Given the description of an element on the screen output the (x, y) to click on. 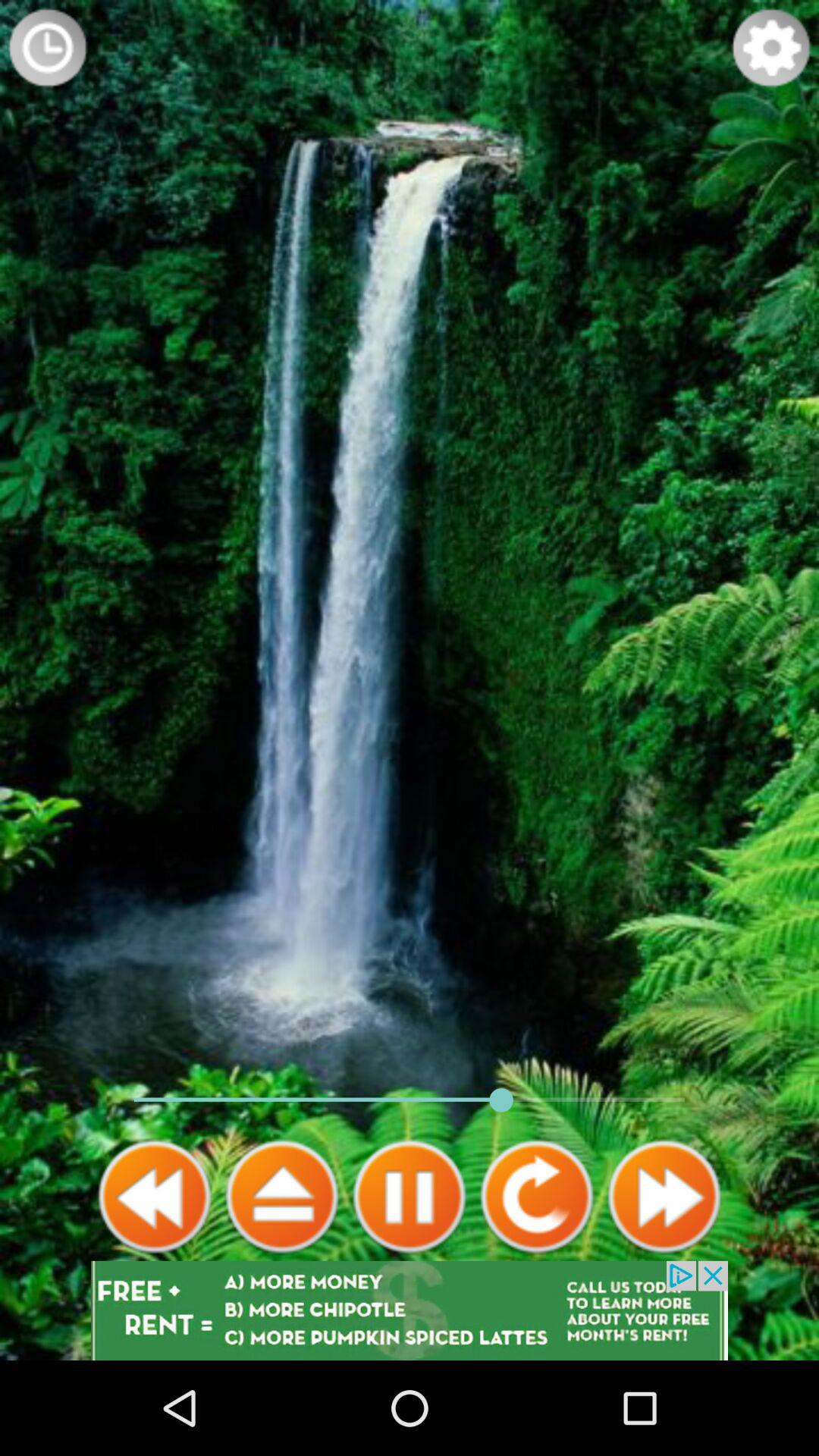
go to settings (771, 47)
